Given the description of an element on the screen output the (x, y) to click on. 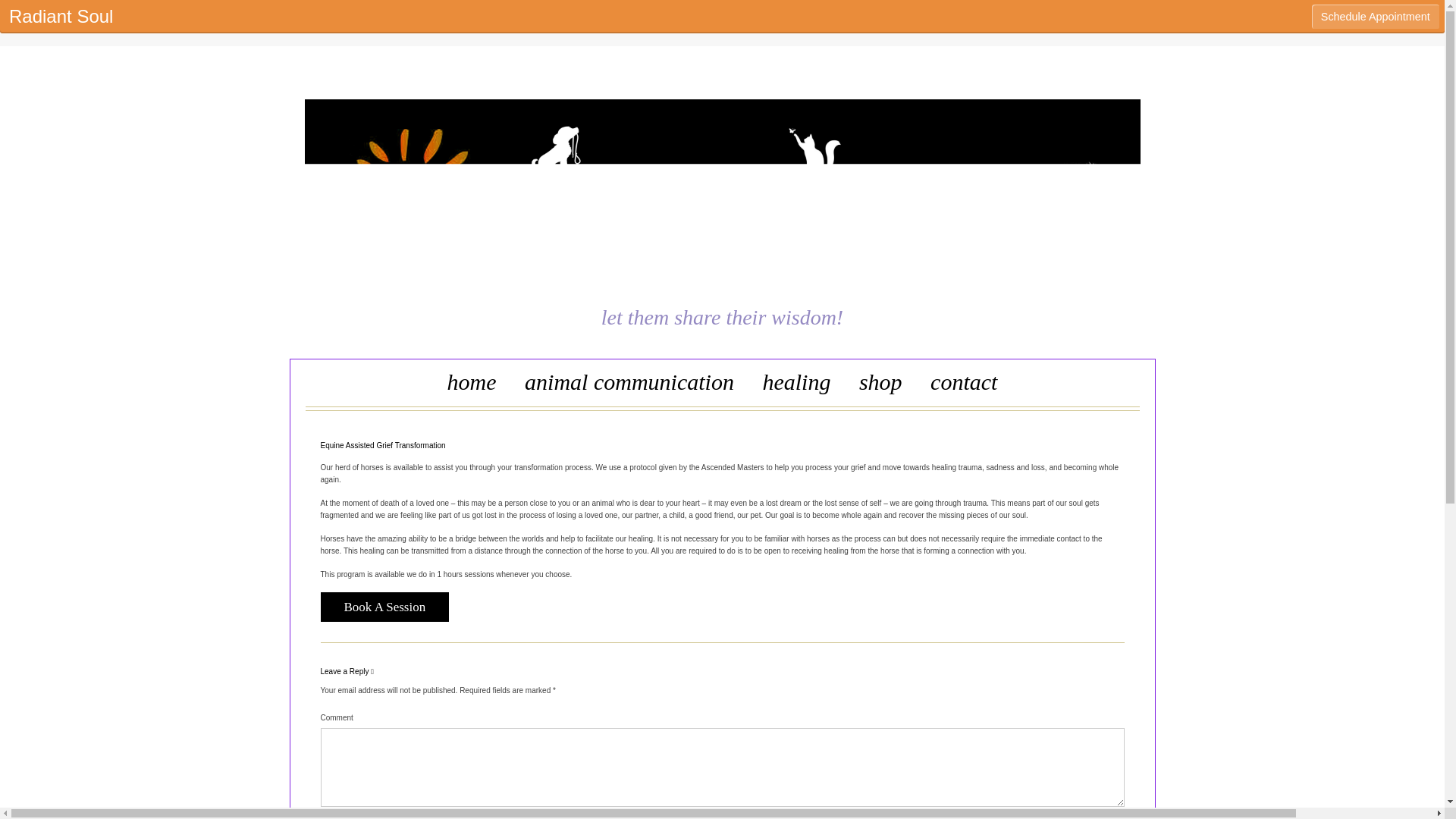
contact (963, 385)
Book A Session (384, 606)
shop (880, 385)
healing (796, 385)
Book A Session (384, 606)
animal communication (629, 385)
home (471, 385)
